Given the description of an element on the screen output the (x, y) to click on. 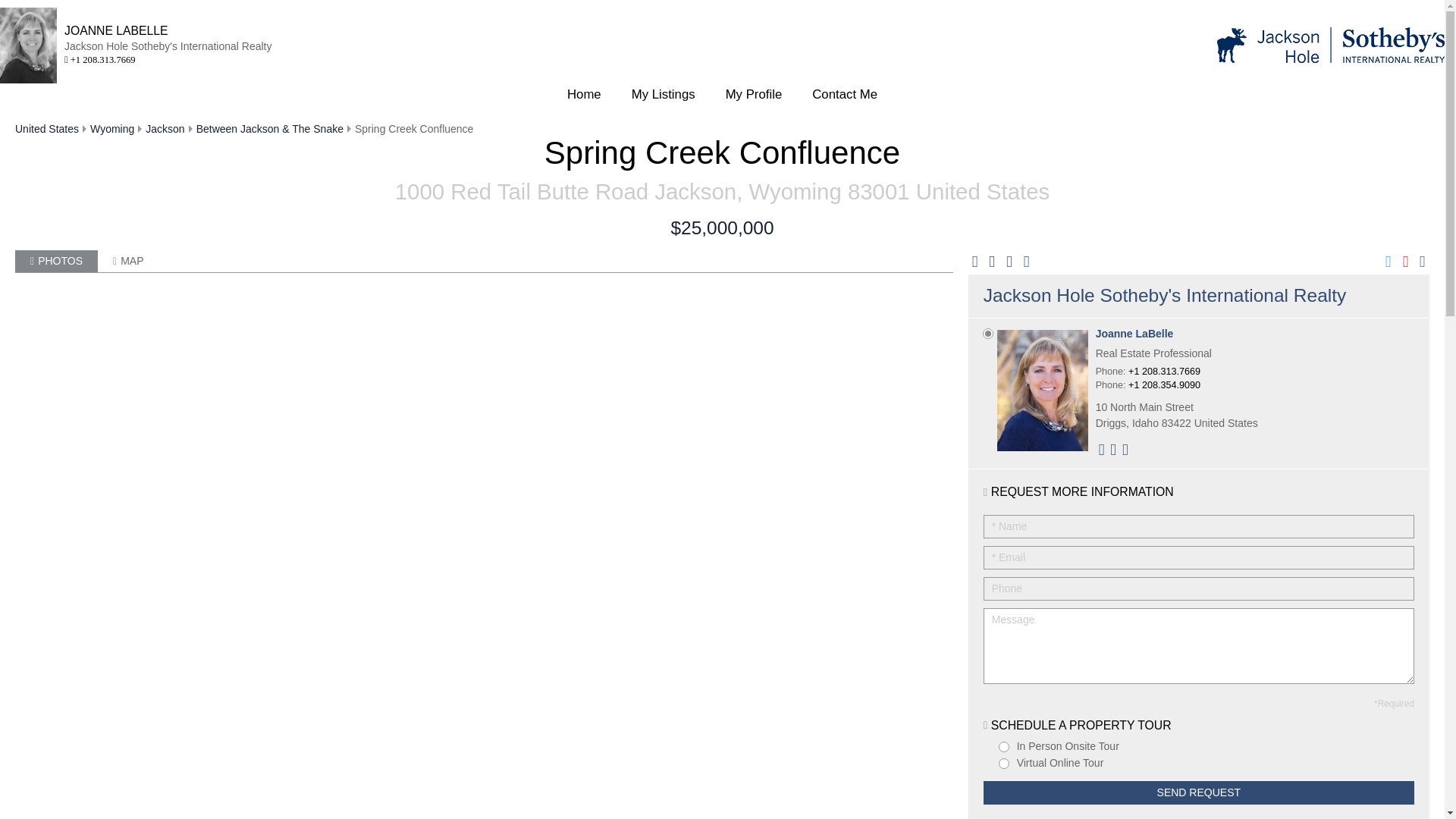
My Profile (753, 94)
Home (583, 94)
Wyoming (111, 128)
Contact Me (844, 94)
Send Request (1198, 792)
Home (583, 94)
My Listings (662, 94)
Photos (55, 260)
PHOTOSMAP (483, 261)
Joanne LaBelle (1176, 333)
My Listings (662, 94)
Jackson (164, 128)
Contact Me (844, 94)
United States (46, 128)
Map (127, 260)
